Given the description of an element on the screen output the (x, y) to click on. 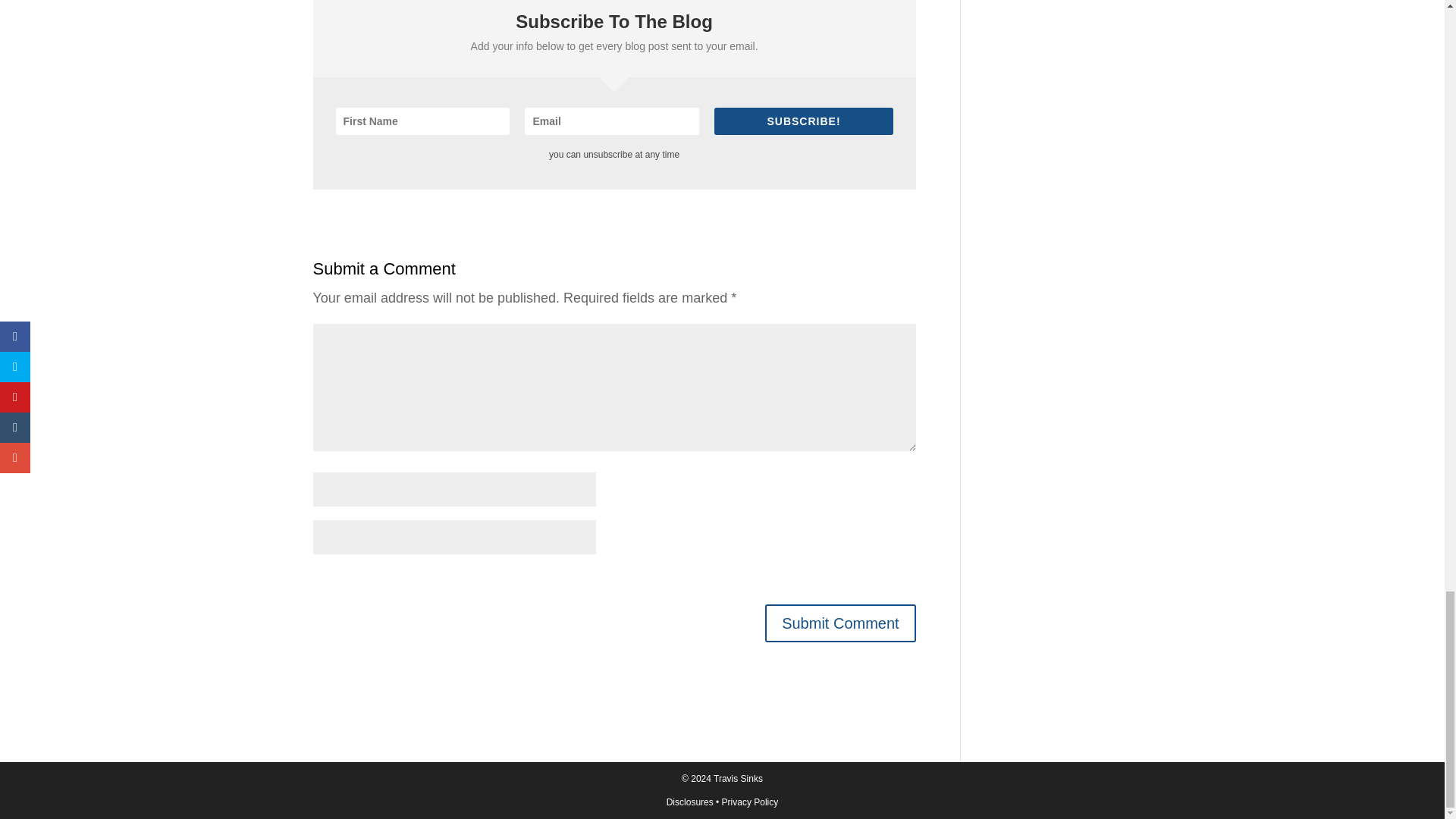
Submit Comment (840, 623)
